Given the description of an element on the screen output the (x, y) to click on. 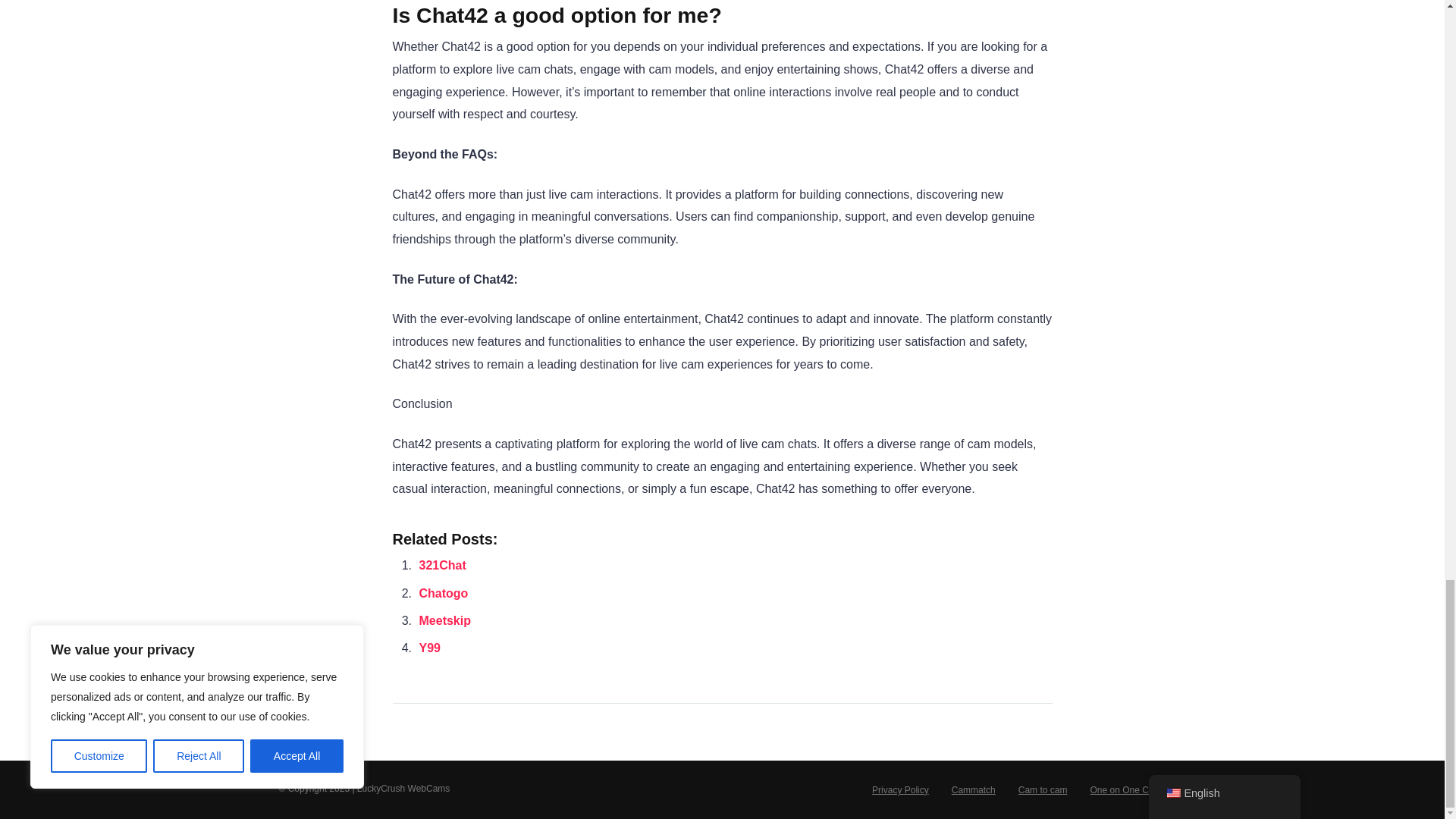
Meetskip (444, 620)
Chatogo (443, 593)
321Chat (442, 564)
